Given the description of an element on the screen output the (x, y) to click on. 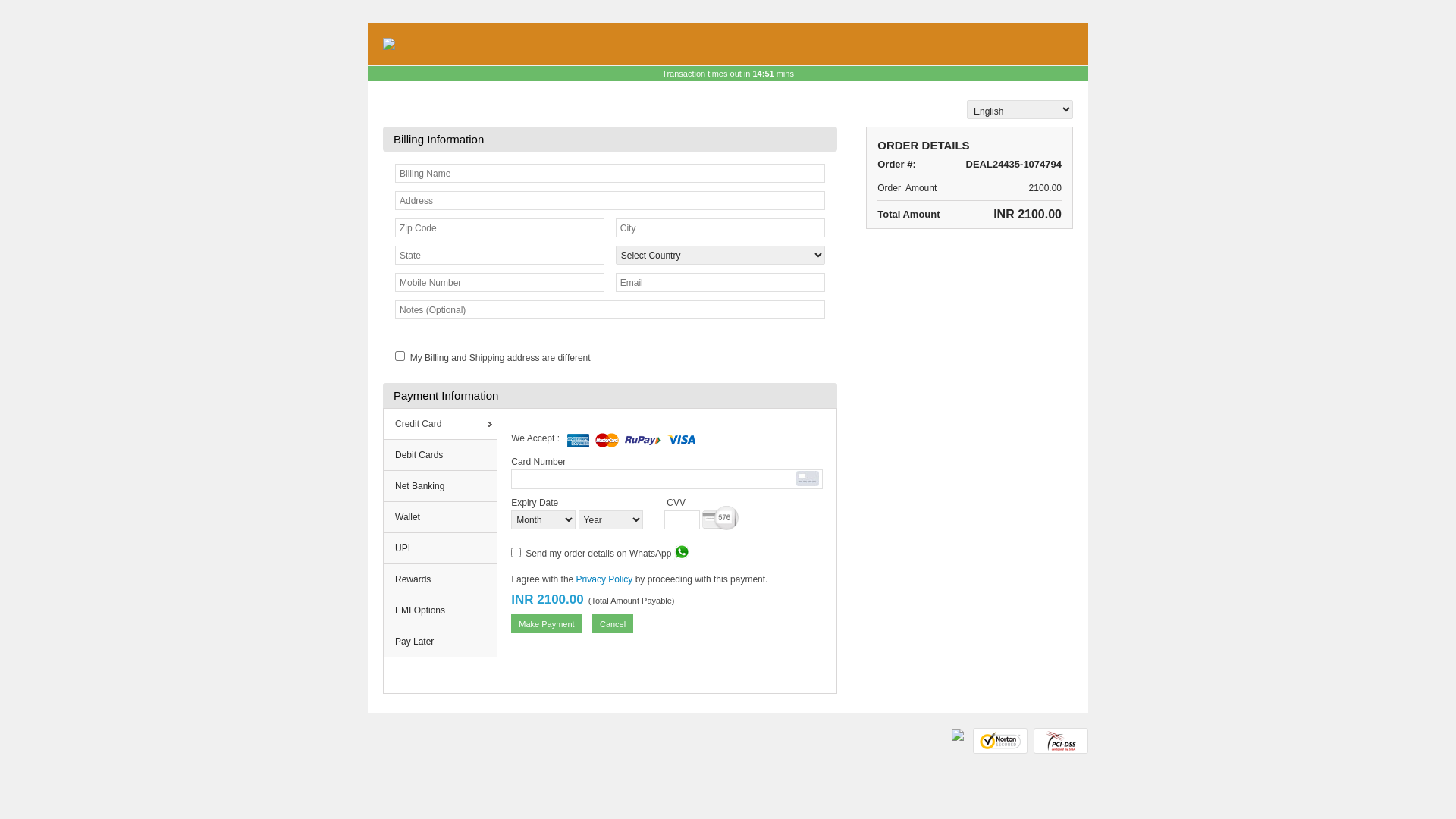
Make Payment Element type: text (546, 623)
Privacy Policy Element type: text (604, 579)
Norton Secured Powered by VeriSign Element type: hover (999, 740)
Cancel Element type: text (612, 623)
  Element type: text (1060, 734)
WhatsApp Element type: hover (681, 551)
  Element type: text (999, 740)
PCI-DSS - Certified by SISA Element type: hover (1060, 740)
